Given the description of an element on the screen output the (x, y) to click on. 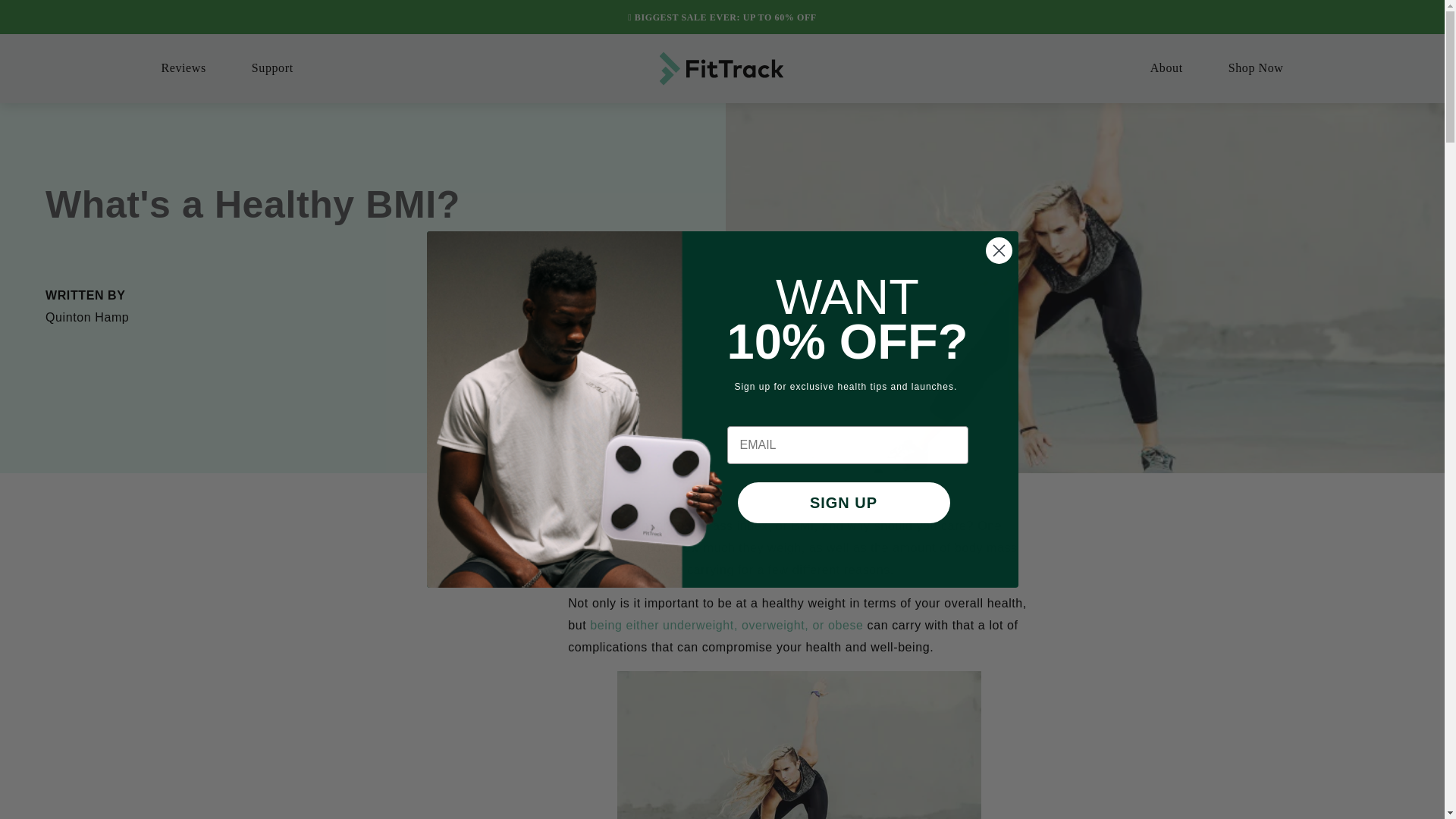
being either underweight, overweight, or obese (726, 625)
Shop Now (1256, 67)
Skip to content (45, 17)
About (1166, 67)
Support (272, 67)
Reviews (182, 67)
Close dialog 1 (998, 250)
